Given the description of an element on the screen output the (x, y) to click on. 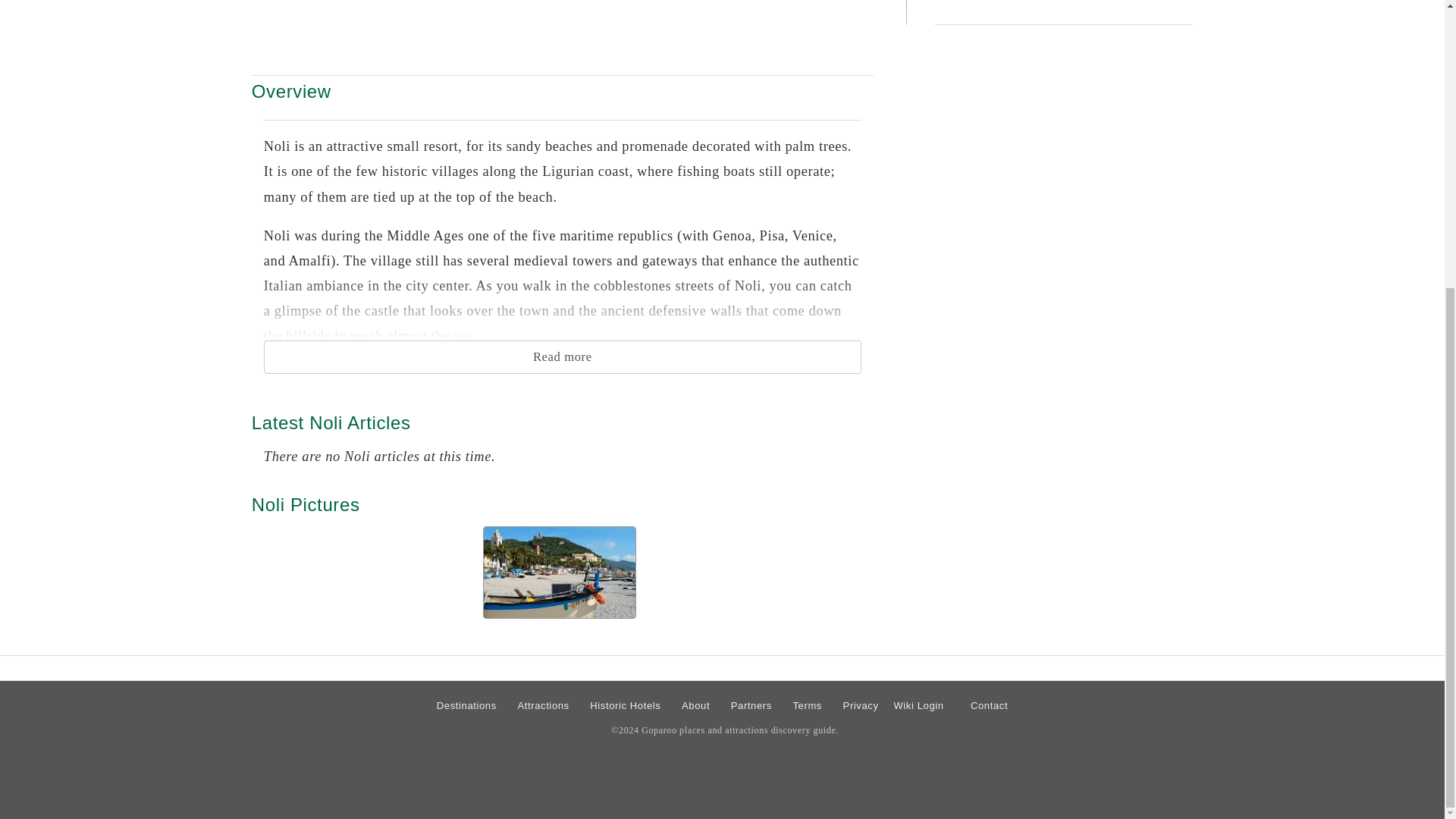
Contact (988, 705)
Partners (751, 705)
About (695, 705)
Destinations (466, 705)
Historic Hotels (624, 705)
Wiki Login (917, 705)
Noli Beach (559, 572)
Privacy (861, 705)
Terms (807, 705)
Attractions (543, 705)
